Given the description of an element on the screen output the (x, y) to click on. 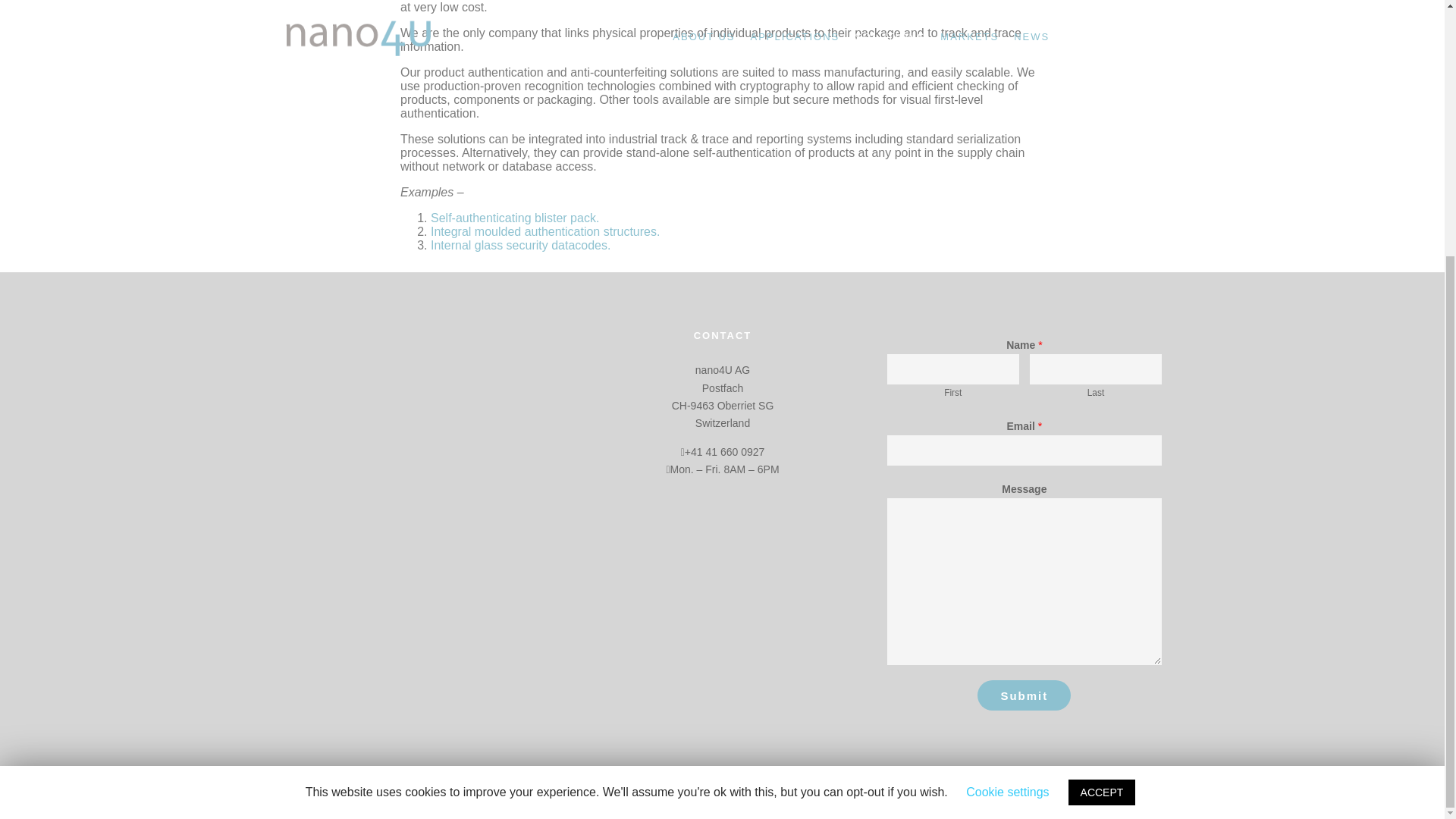
Self-authenticating blister pack. (514, 217)
Cookie settings (1007, 428)
Submit (1023, 695)
Cookie Policy (793, 797)
ACCEPT (1101, 429)
Internal glass security datacodes. (520, 245)
Integral moulded authentication structures. (544, 231)
